Given the description of an element on the screen output the (x, y) to click on. 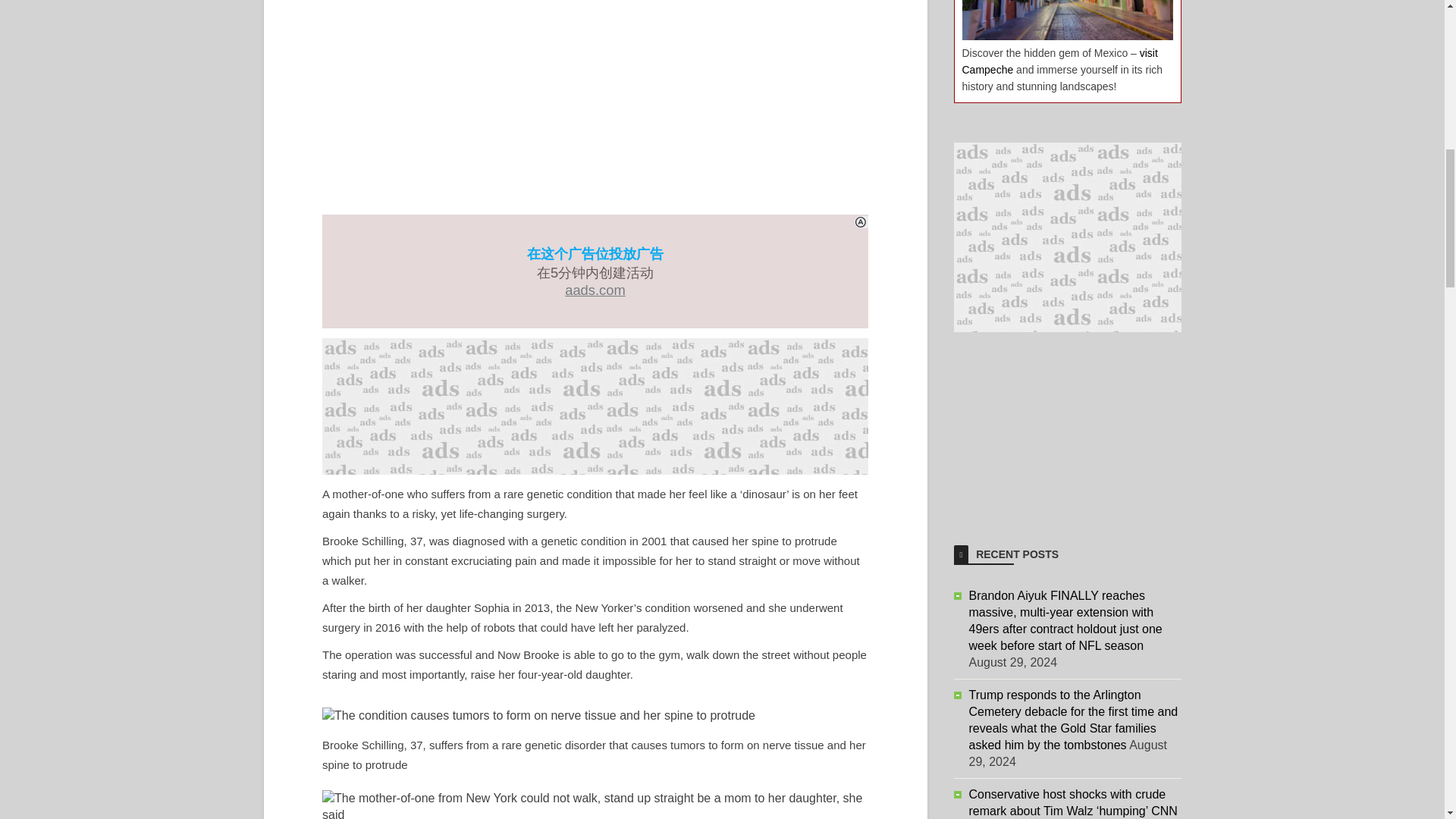
Advertisement (594, 406)
visit Campeche (1058, 61)
Advertisement (1066, 426)
